Given the description of an element on the screen output the (x, y) to click on. 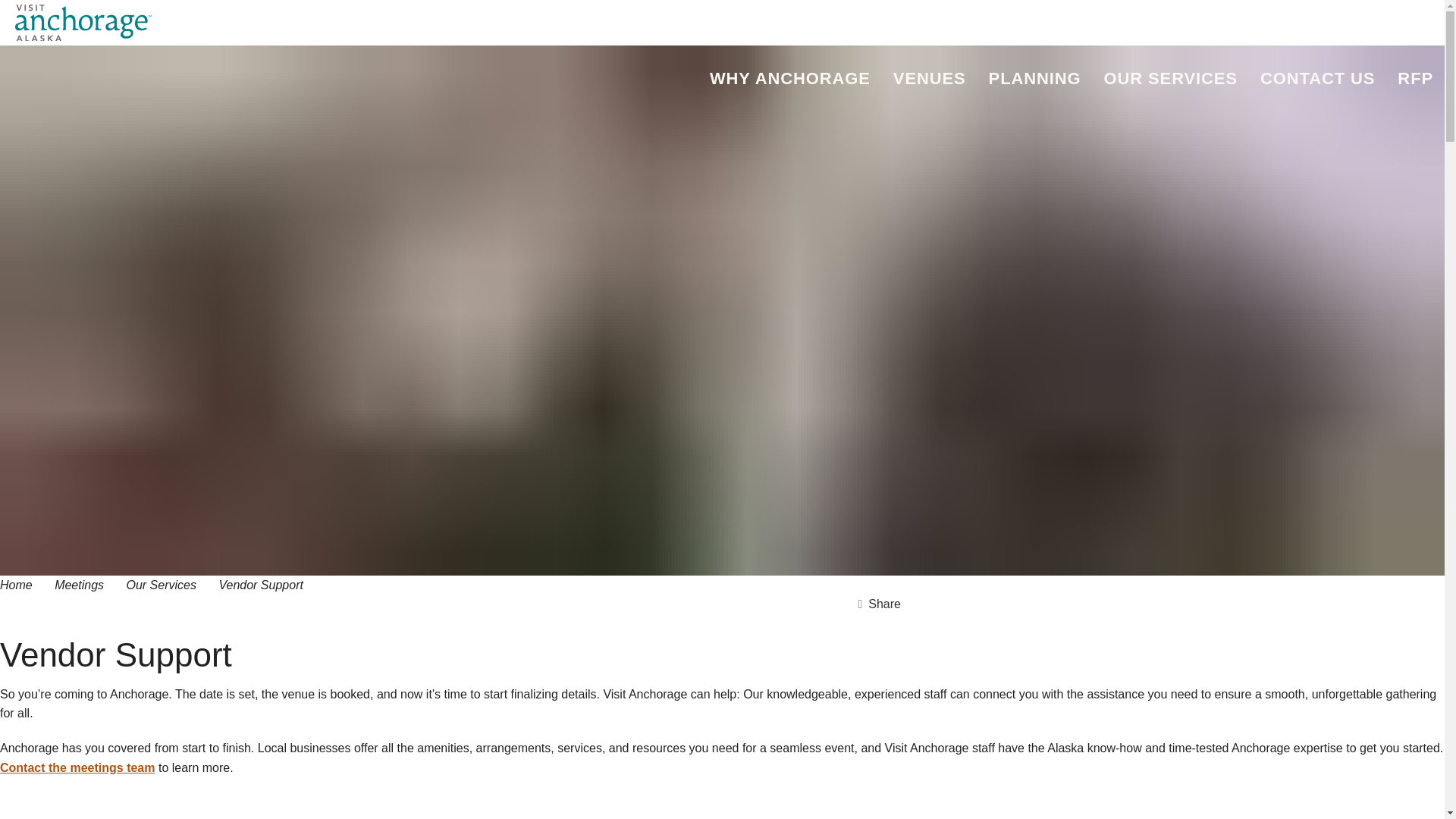
CONTACT US (1317, 78)
VENUES (929, 78)
WHY ANCHORAGE (790, 78)
PLANNING (1034, 78)
OUR SERVICES (1171, 78)
